Given the description of an element on the screen output the (x, y) to click on. 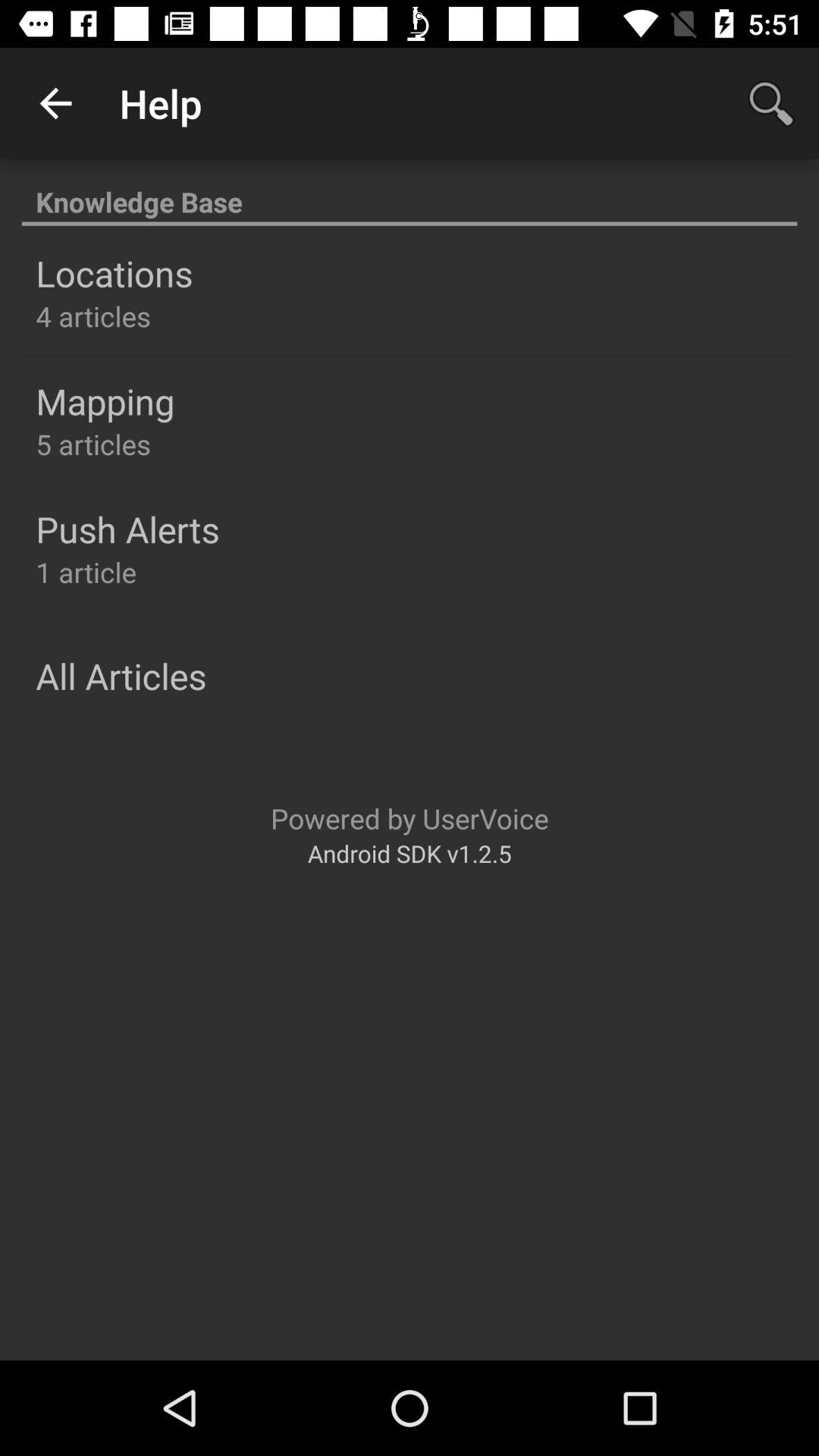
press the icon next to the help icon (55, 103)
